Given the description of an element on the screen output the (x, y) to click on. 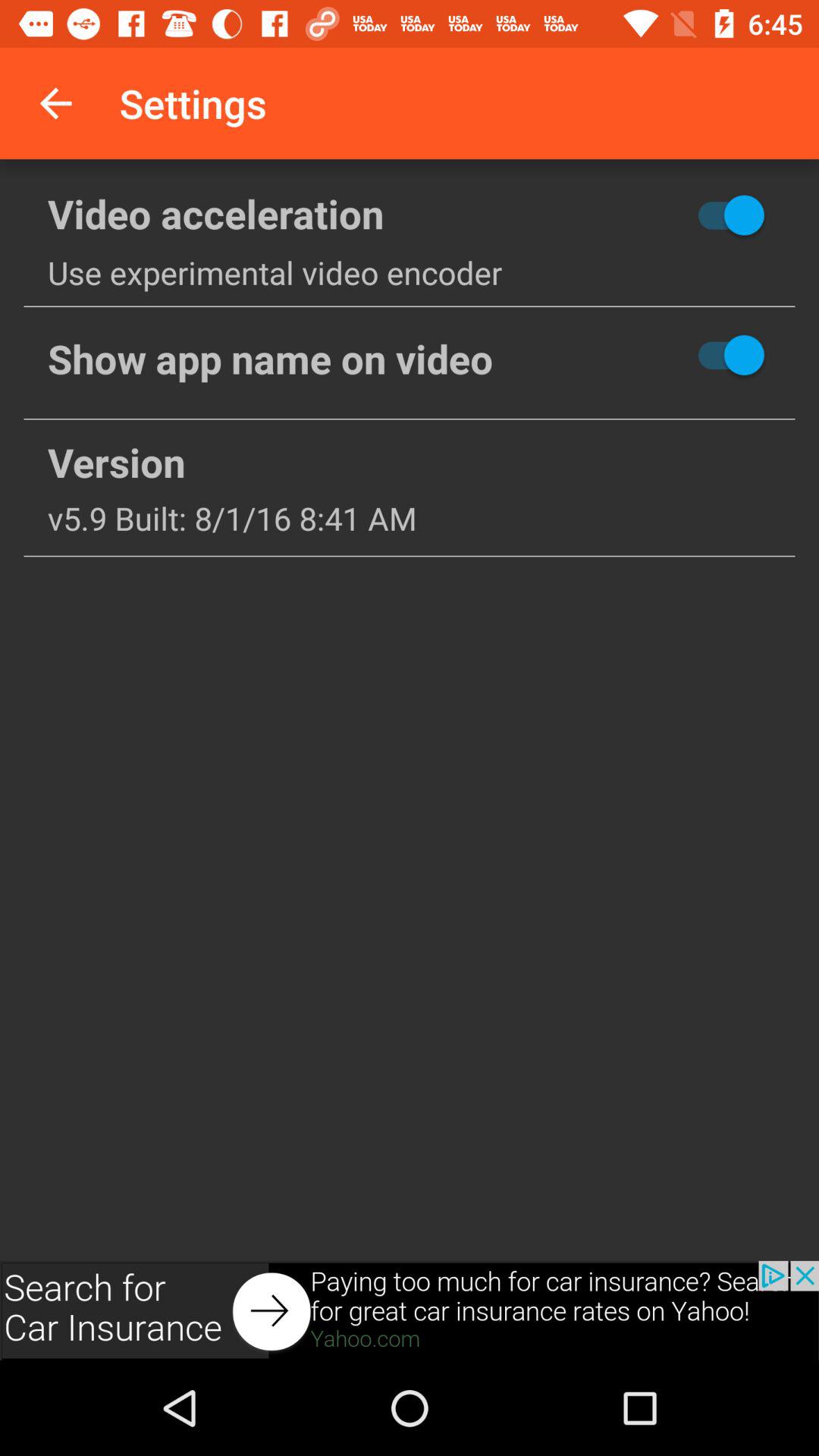
hide button (675, 214)
